Given the description of an element on the screen output the (x, y) to click on. 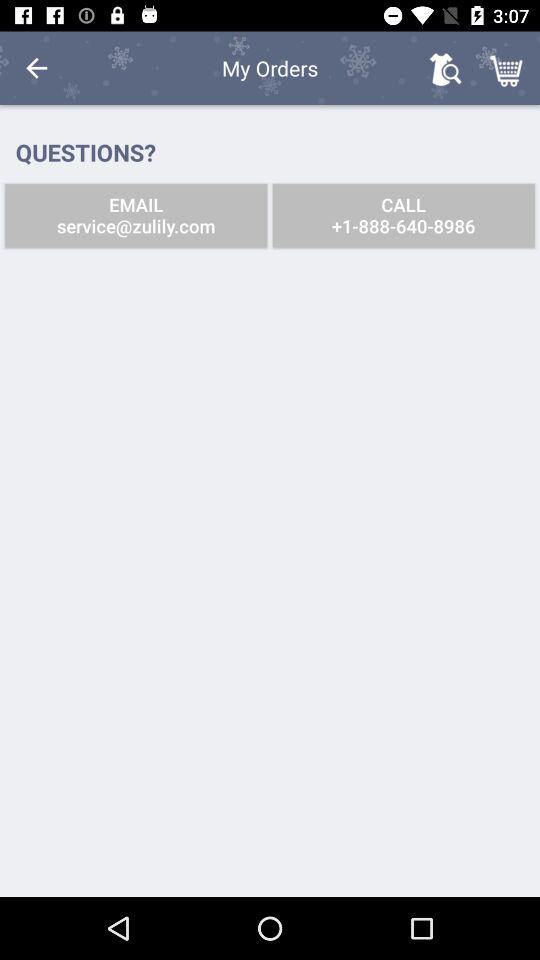
swipe to the email service zulily (136, 215)
